Given the description of an element on the screen output the (x, y) to click on. 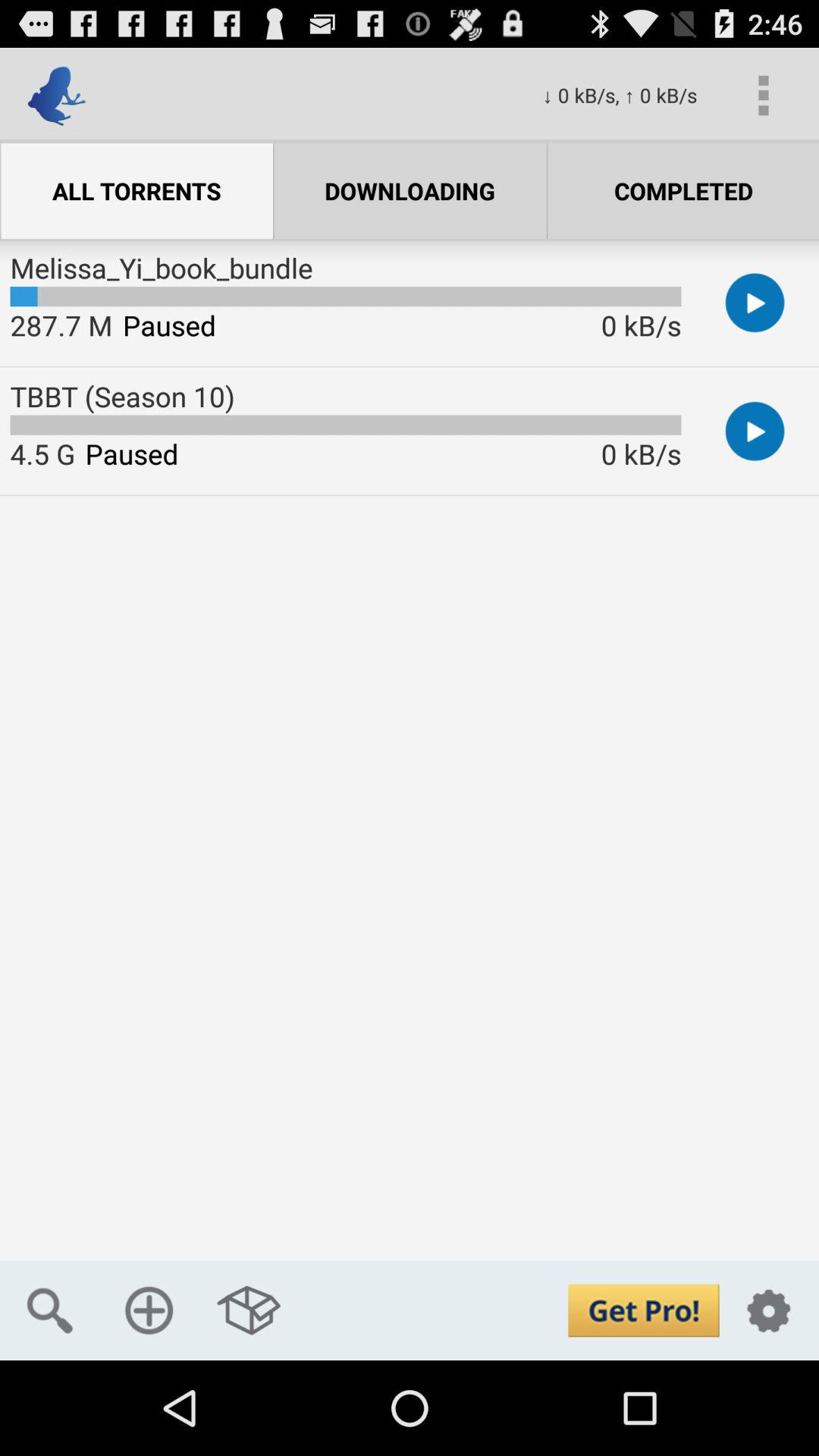
scroll to 287.7 m icon (61, 325)
